Given the description of an element on the screen output the (x, y) to click on. 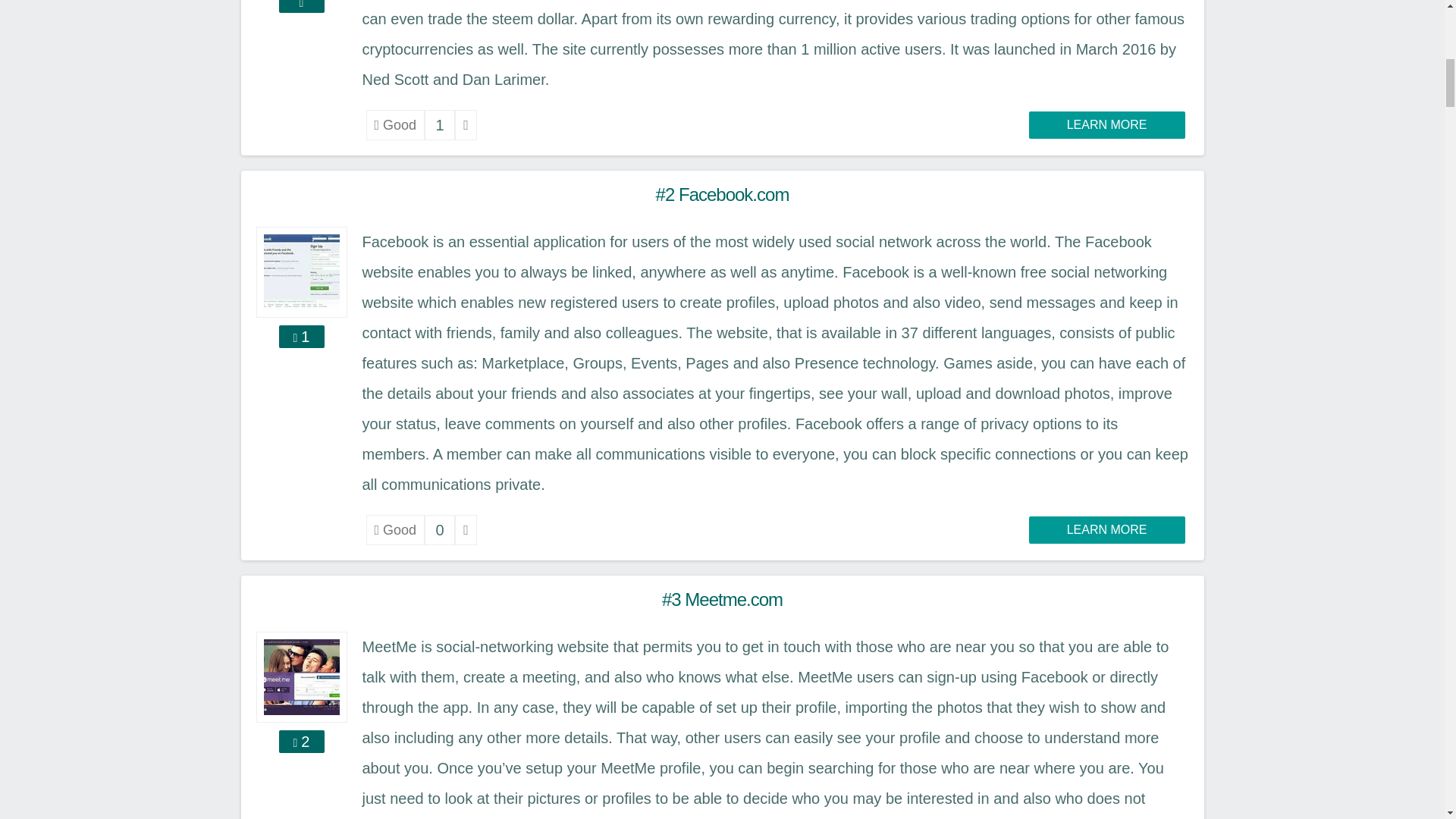
LEARN MORE (1107, 124)
LEARN MORE (1107, 529)
